Given the description of an element on the screen output the (x, y) to click on. 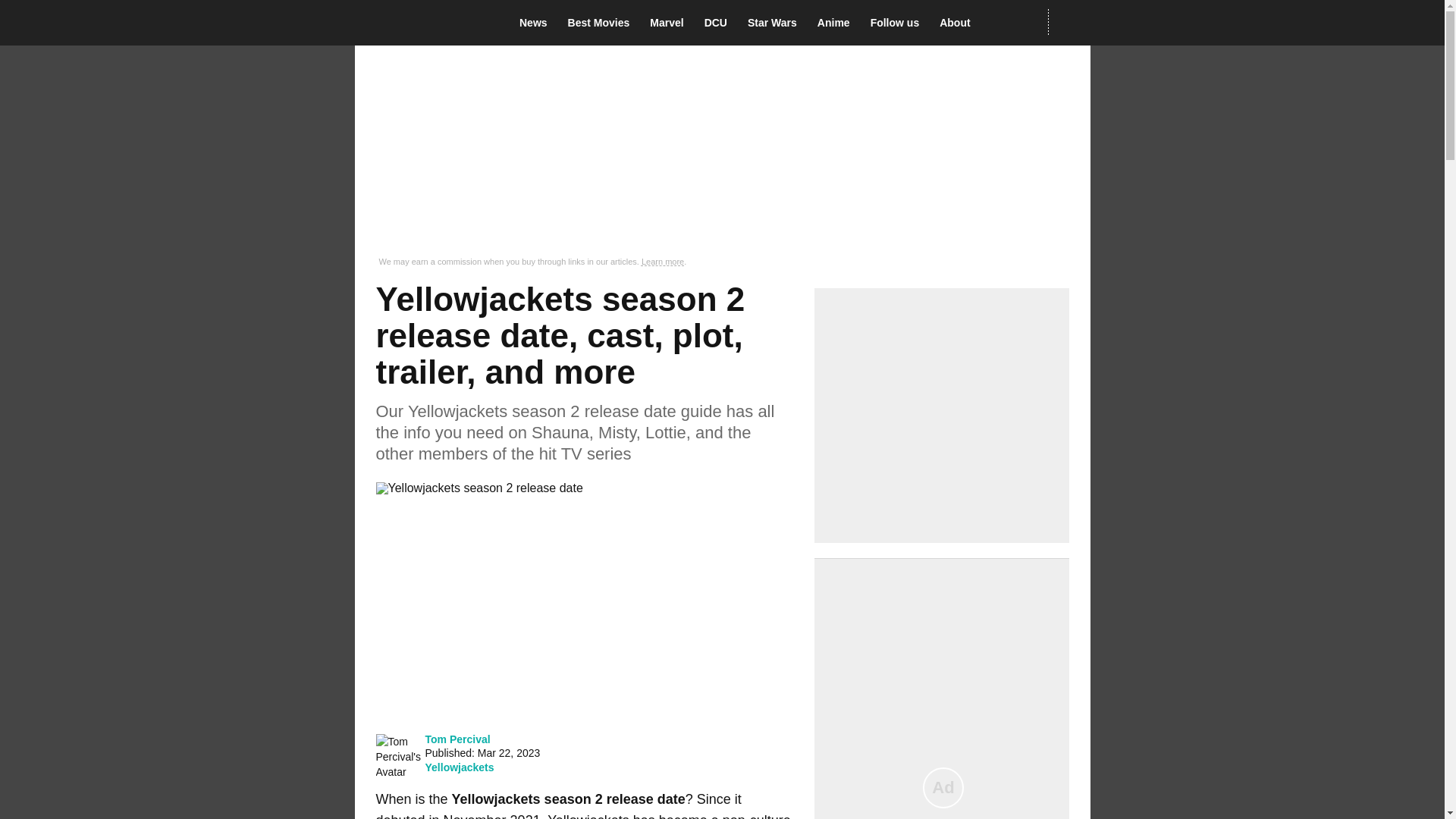
Anime News (837, 22)
Star Wars (777, 22)
Network N Media (1068, 22)
Marvel (671, 22)
Follow us (899, 22)
Learn more (663, 261)
Yellowjackets (459, 767)
Tom Percival (457, 739)
Star Wars News (777, 22)
Best Movies (603, 22)
